Given the description of an element on the screen output the (x, y) to click on. 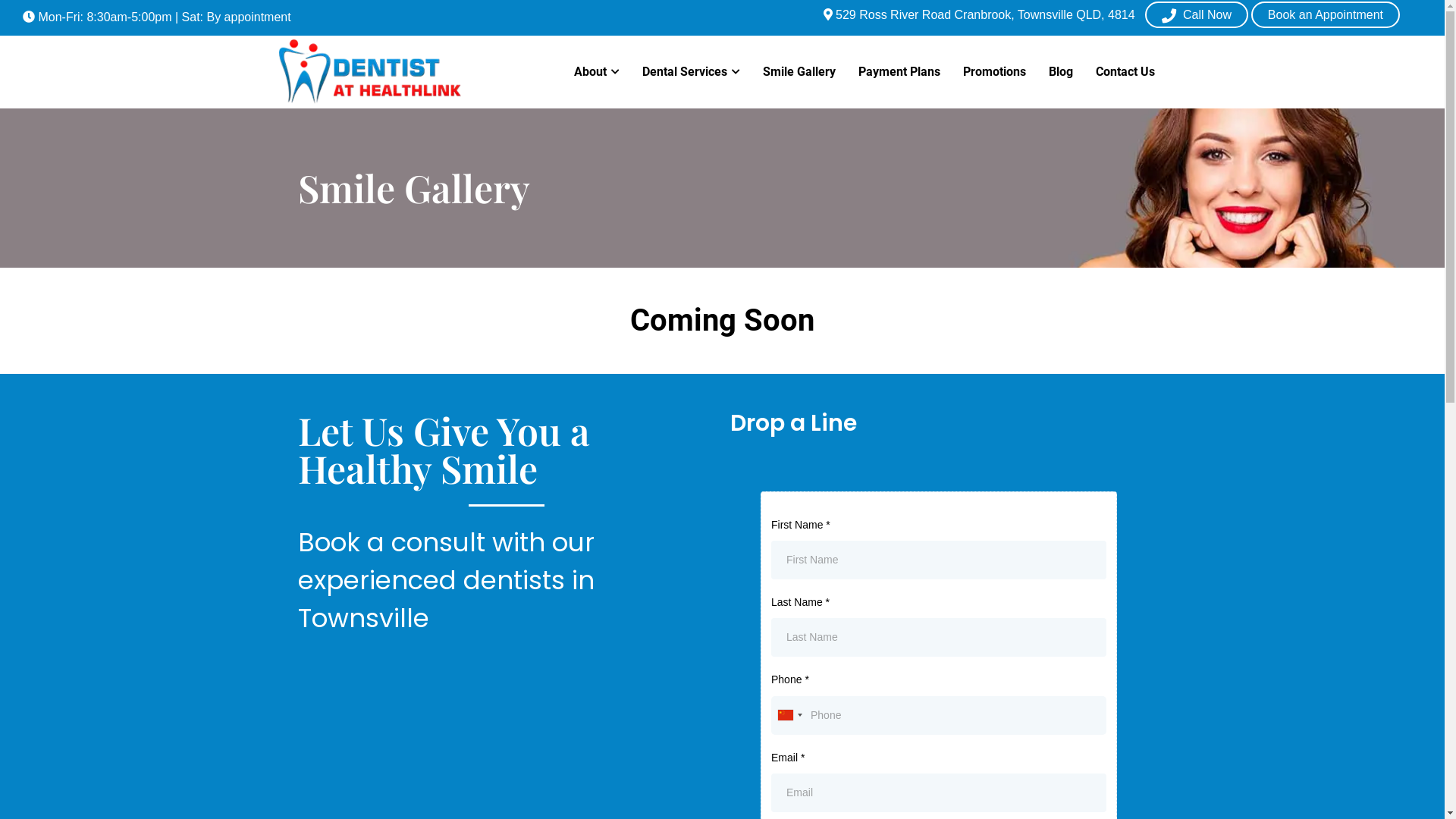
Smile Gallery Element type: text (798, 71)
Payment Plans Element type: text (898, 71)
Book an Appointment Element type: text (1325, 14)
Call Now Element type: text (1196, 14)
Promotions Element type: text (993, 71)
Contact Us Element type: text (1125, 71)
Dental Services Element type: text (690, 71)
529 Ross River Road Cranbrook, Townsville QLD, 4814 Element type: text (979, 14)
About Element type: text (596, 71)
Blog Element type: text (1060, 71)
